Given the description of an element on the screen output the (x, y) to click on. 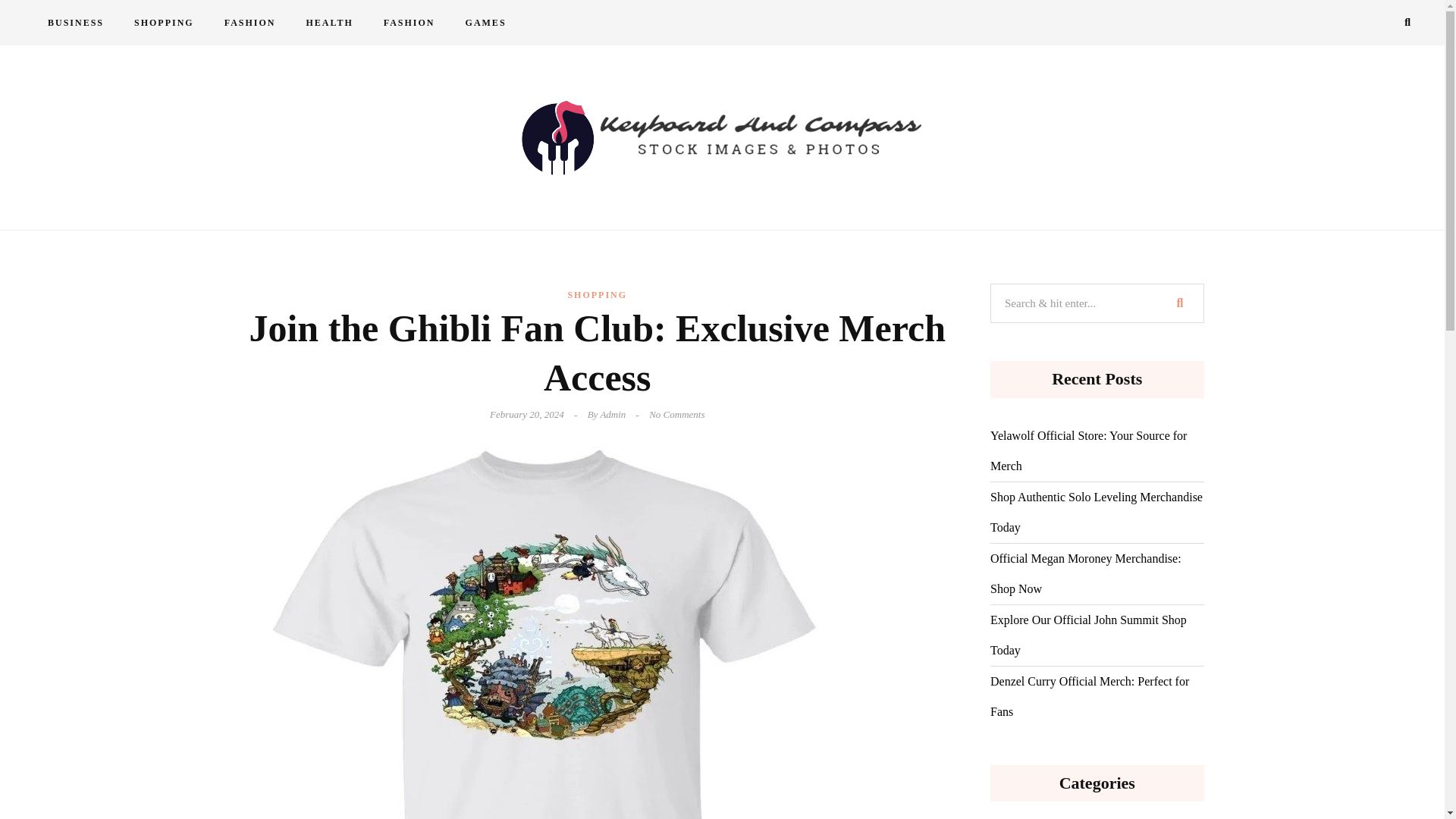
Official Megan Moroney Merchandise: Shop Now (1097, 573)
FASHION (250, 22)
Denzel Curry Official Merch: Perfect for Fans (1097, 696)
BUSINESS (75, 22)
HEALTH (329, 22)
Yelawolf Official Store: Your Source for Merch (1097, 450)
SHOPPING (597, 294)
Shop Authentic Solo Leveling Merchandise Today (1097, 512)
GAMES (485, 22)
FASHION (408, 22)
Explore Our Official John Summit Shop Today (1097, 635)
SHOPPING (164, 22)
